Given the description of an element on the screen output the (x, y) to click on. 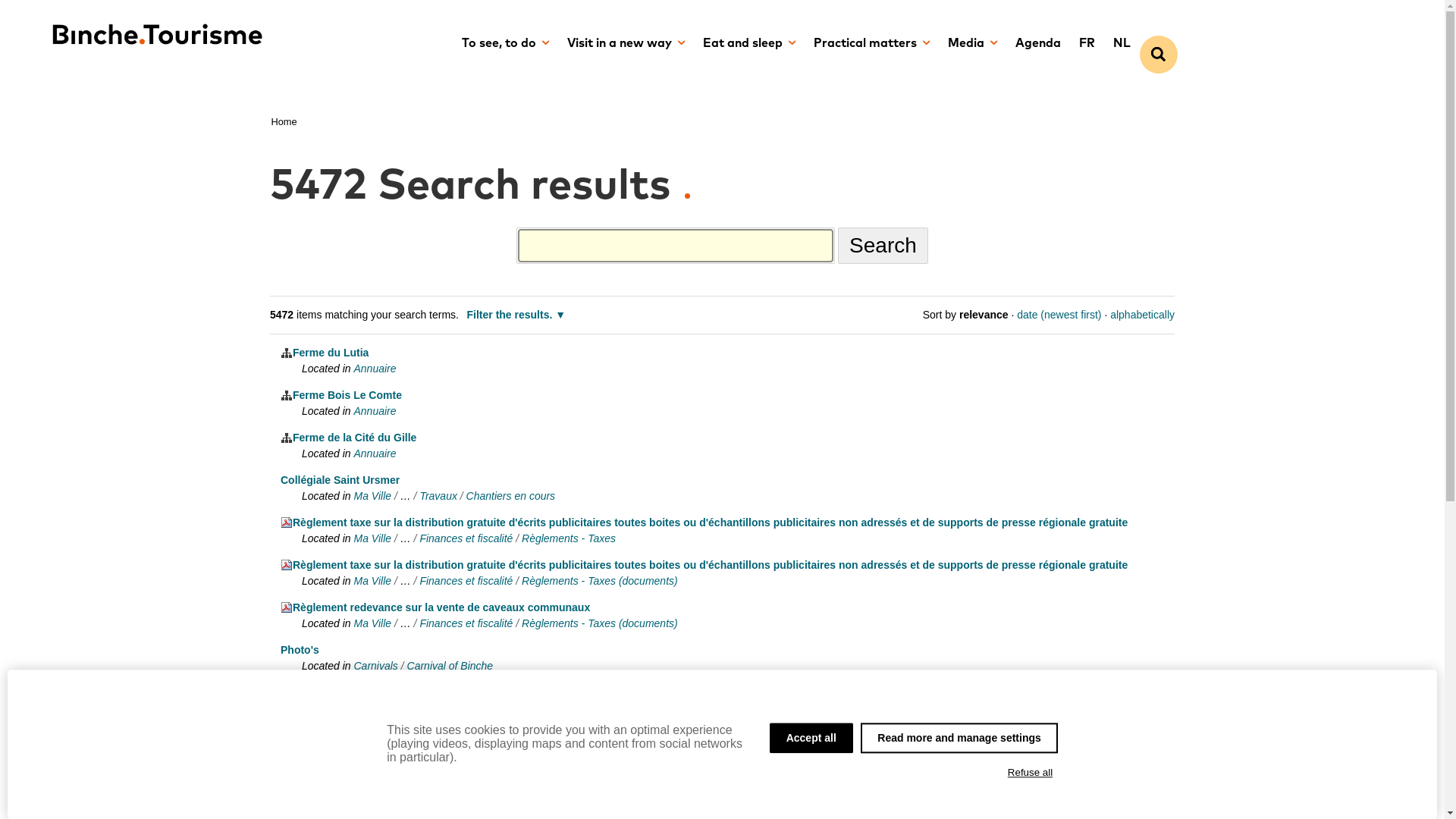
Filter the results. Element type: text (516, 315)
Carnaval 2020 Element type: text (501, 750)
2 Element type: text (327, 781)
6 Element type: text (402, 781)
Travaux Element type: text (438, 495)
Agenda Element type: text (1037, 43)
Chercher Element type: text (1157, 54)
3 Element type: text (345, 781)
Gilles 2020 (c)Olivier Legardien DSF5412 Element type: text (389, 692)
Carnivals Element type: text (375, 750)
Ferme du Lutia Element type: text (324, 352)
To see, to do Element type: text (504, 43)
FR Element type: text (1086, 43)
Search Site Element type: hover (675, 245)
alphabetically Element type: text (1142, 314)
7 Element type: text (421, 781)
Ma Ville Element type: text (372, 580)
5 Element type: text (383, 781)
Visit in a new way Element type: text (625, 43)
Photos Element type: text (442, 750)
Accept all Element type: text (811, 737)
Carnaval 2020 Element type: text (501, 708)
Carnivals Element type: text (375, 708)
date (newest first) Element type: text (1058, 314)
Ma Ville Element type: text (372, 623)
Annuaire Element type: text (374, 368)
Search Element type: text (882, 245)
Carnival of Binche Element type: text (450, 665)
Read more and manage settings Element type: text (958, 737)
Annuaire Element type: text (374, 410)
Photo's Element type: text (299, 649)
Ferme Bois Le Comte Element type: text (340, 395)
Chantiers en cours Element type: text (510, 495)
Carnivals Element type: text (375, 665)
Annuaire Element type: text (374, 453)
NL Element type: text (1121, 43)
Media Element type: text (972, 43)
Ma Ville Element type: text (372, 495)
Practical matters Element type: text (870, 43)
Photos Element type: text (442, 708)
Refuse all Element type: text (1029, 772)
Eat and sleep Element type: text (748, 43)
Home Element type: text (284, 121)
4 Element type: text (363, 781)
Gilles 2020 (c)Olivier Legardien DSF5811 Element type: text (389, 734)
Ma Ville Element type: text (372, 538)
548 Element type: text (457, 781)
